Given the description of an element on the screen output the (x, y) to click on. 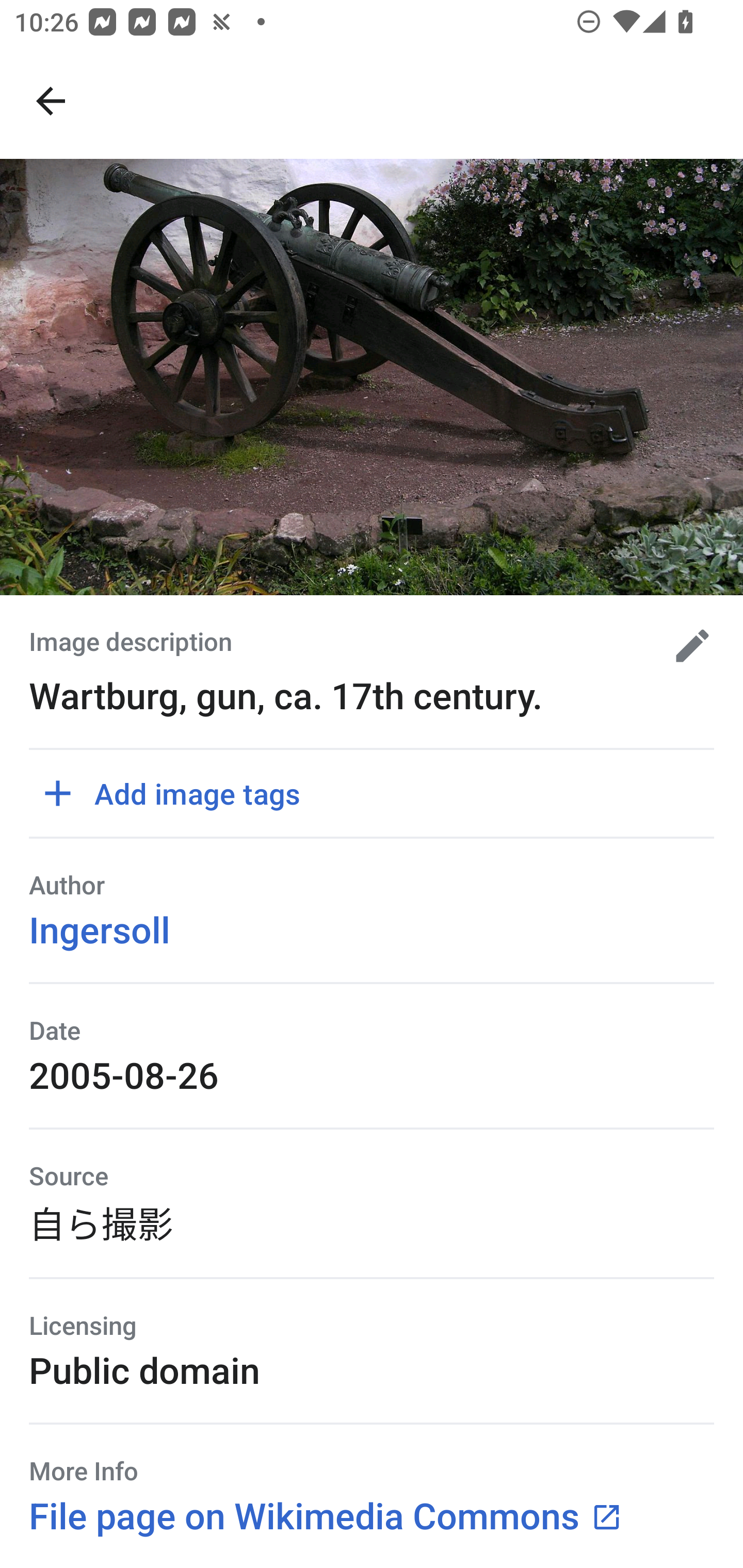
Navigate up (50, 101)
Edit Image description (685, 645)
Add image tags (178, 793)
File page on Wikimedia Commons (325, 1515)
